Given the description of an element on the screen output the (x, y) to click on. 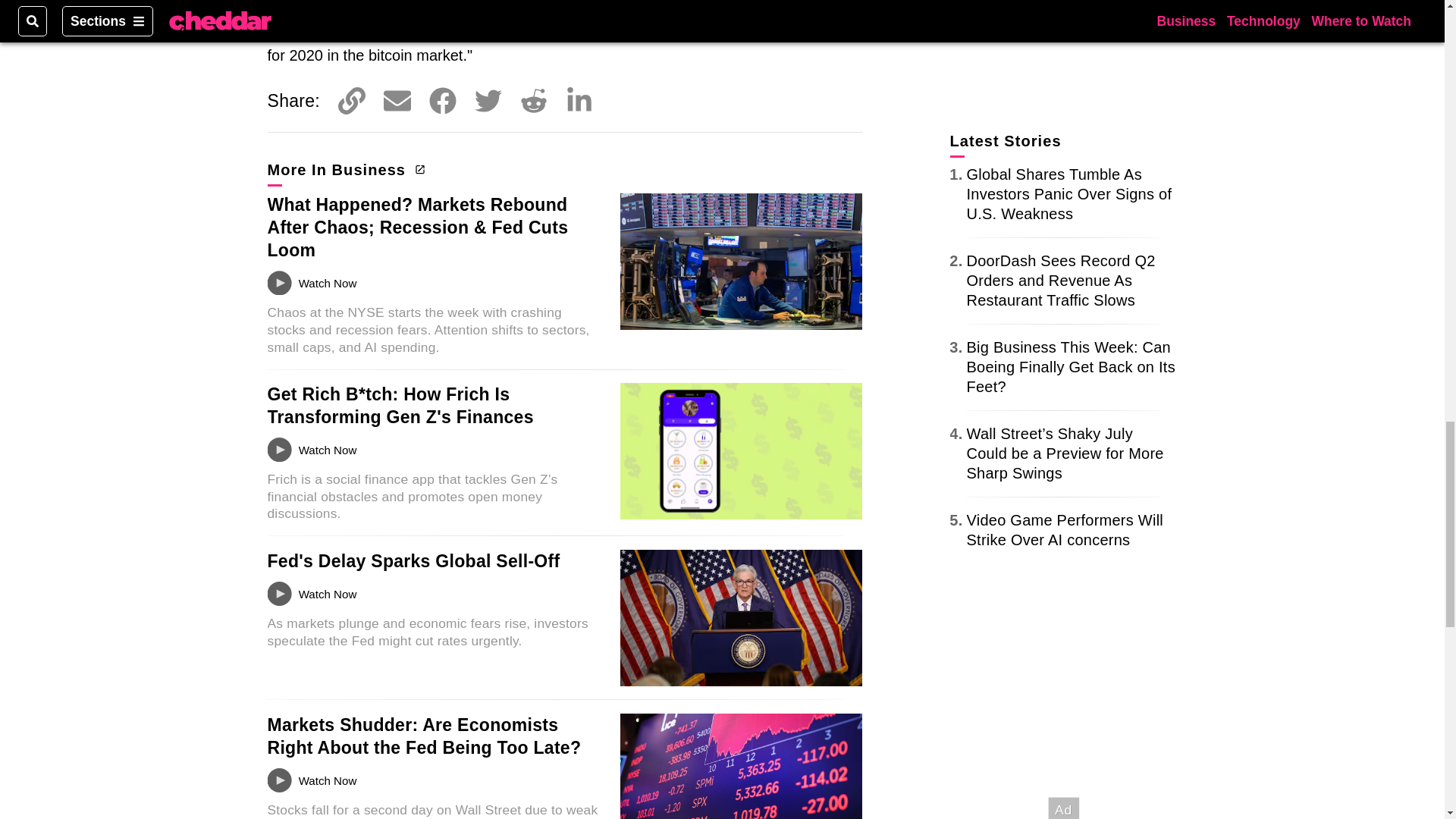
More In Business (344, 169)
Fed's Delay Sparks Global Sell-Off (412, 560)
